Given the description of an element on the screen output the (x, y) to click on. 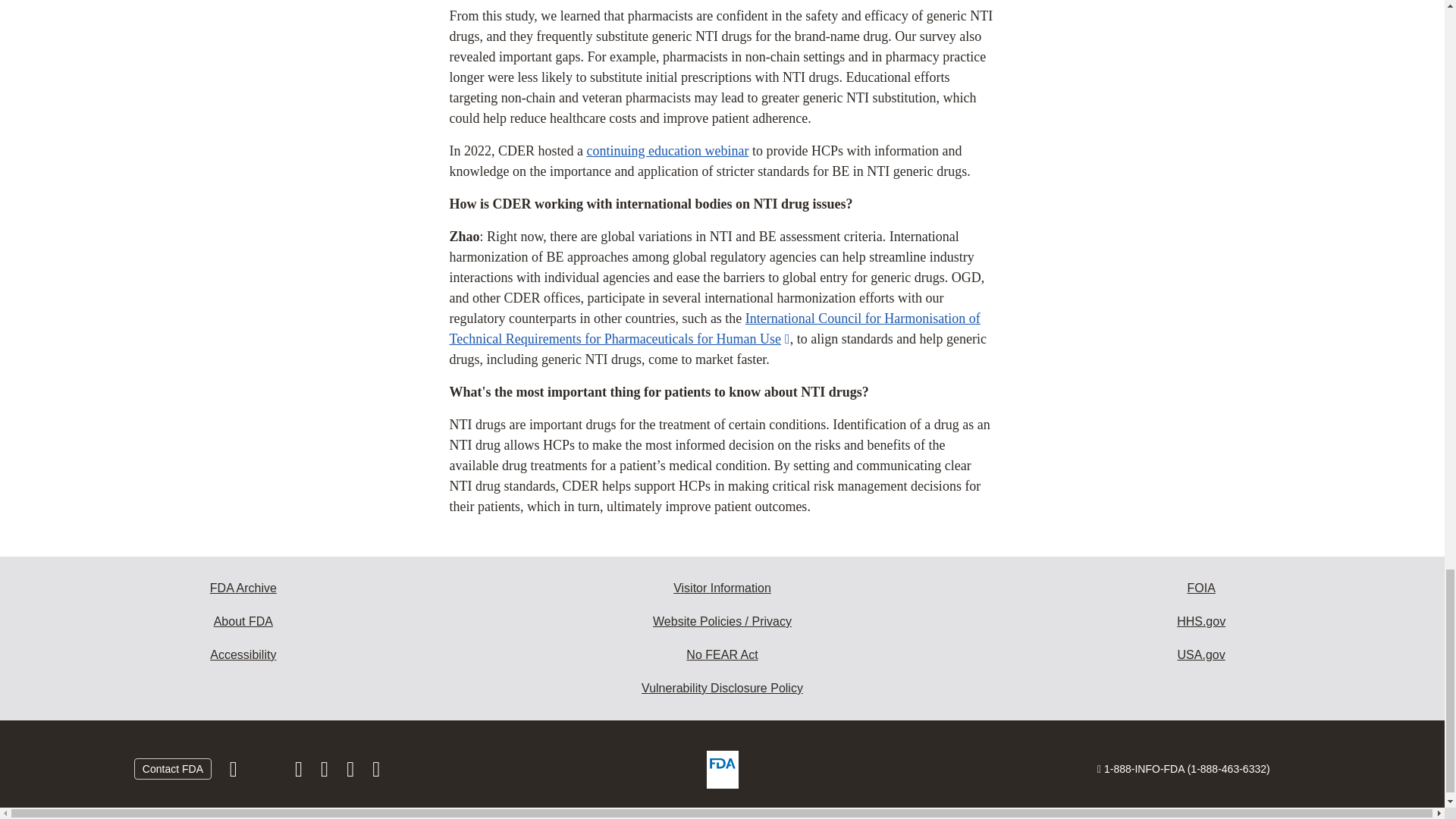
Follow FDA on Instagram (299, 772)
View FDA videos on YouTube (352, 772)
Follow FDA on X (266, 772)
Freedom of Information Act (1200, 588)
Understanding Generic Narrow Therapeutic Index Drugs (667, 150)
Follow FDA on Facebook (234, 772)
Health and Human Services (1200, 621)
Follow FDA on LinkedIn (326, 772)
